Given the description of an element on the screen output the (x, y) to click on. 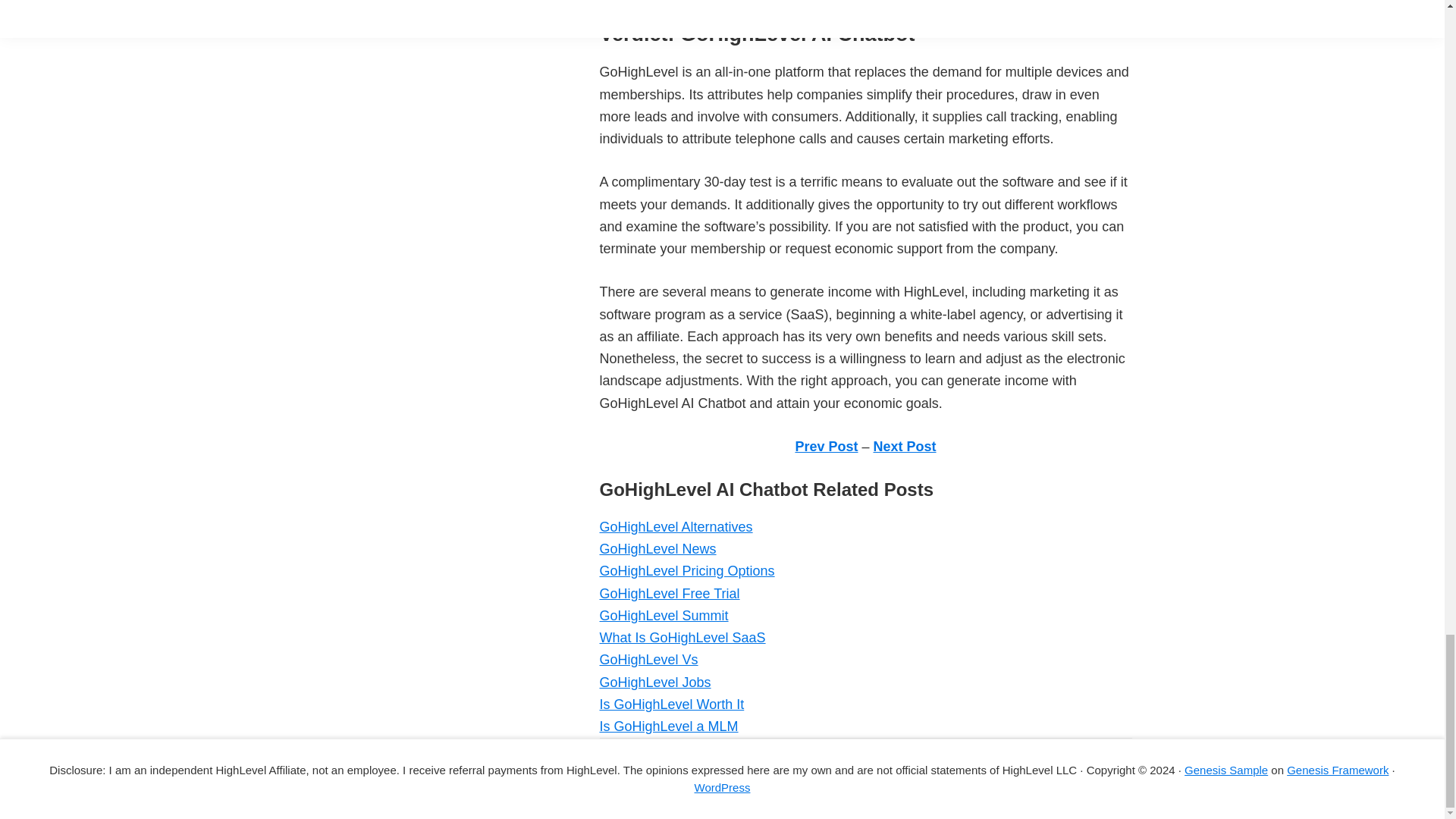
GoHighLevel Jobs (654, 682)
GoHighLevel News (657, 548)
GoHighLevel Free Trial (668, 593)
Is GoHighLevel Worth It (671, 703)
GoHighLevel Alternatives (675, 526)
GoHighLevel Alternatives (675, 526)
GoHighLevel Pricing Options (686, 570)
Prev Post (825, 446)
What Is GoHighLevel SaaS (681, 637)
GoHighLevel Jobs (654, 682)
